Given the description of an element on the screen output the (x, y) to click on. 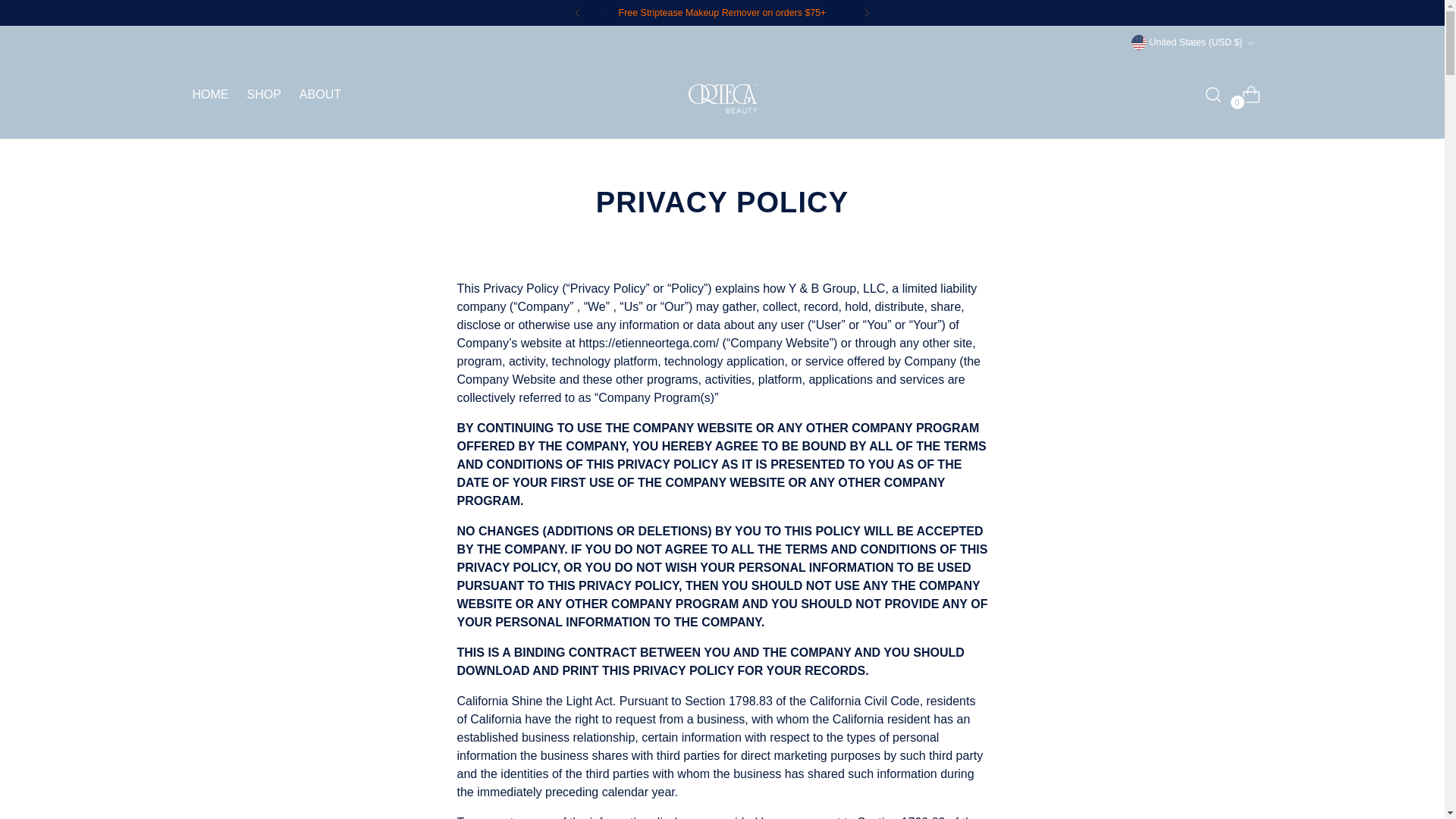
Next (265, 93)
Previous (866, 12)
